Given the description of an element on the screen output the (x, y) to click on. 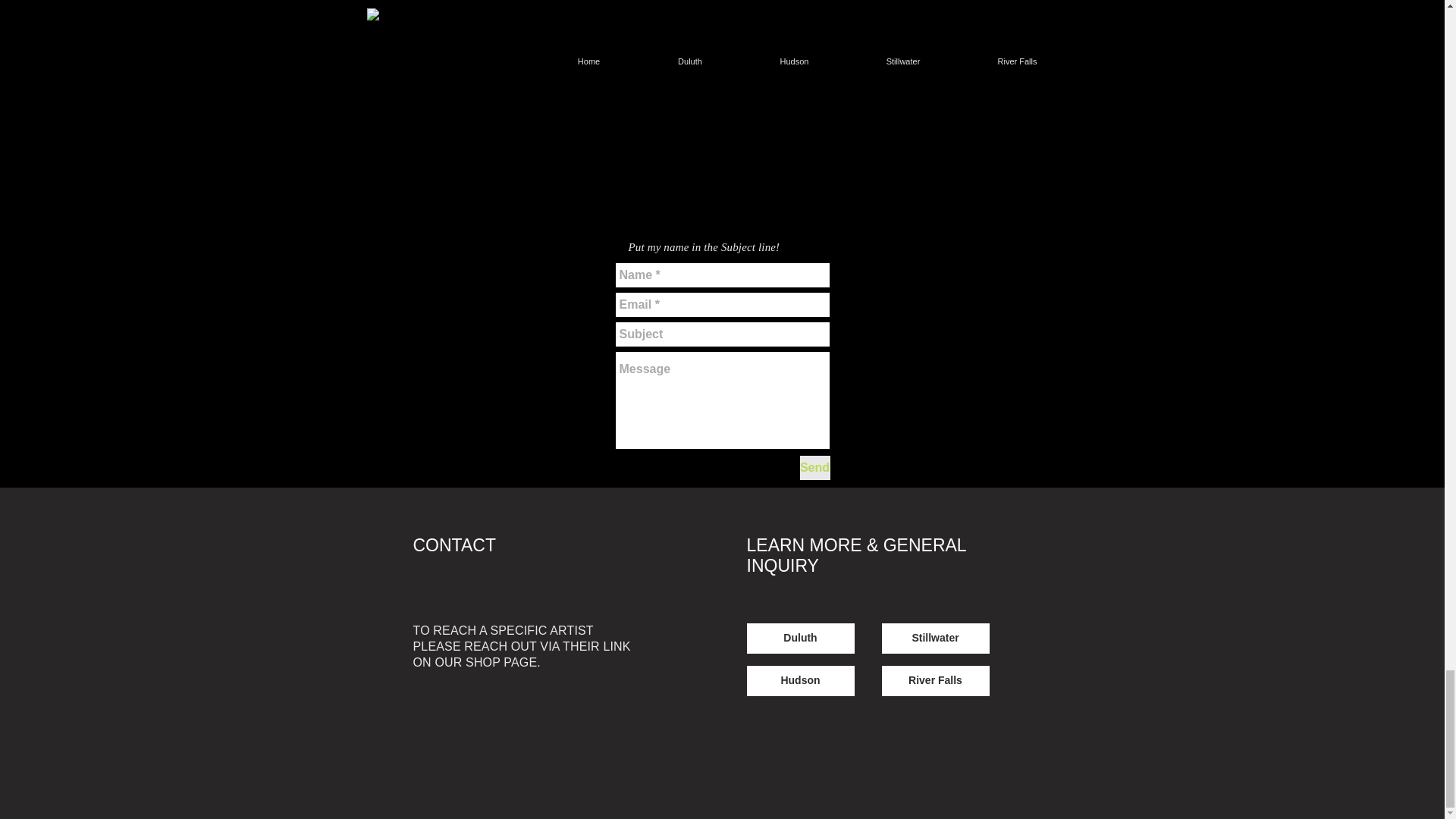
Duluth (799, 638)
Send (814, 467)
River Falls (934, 680)
Stillwater (934, 638)
Hudson (799, 680)
